Given the description of an element on the screen output the (x, y) to click on. 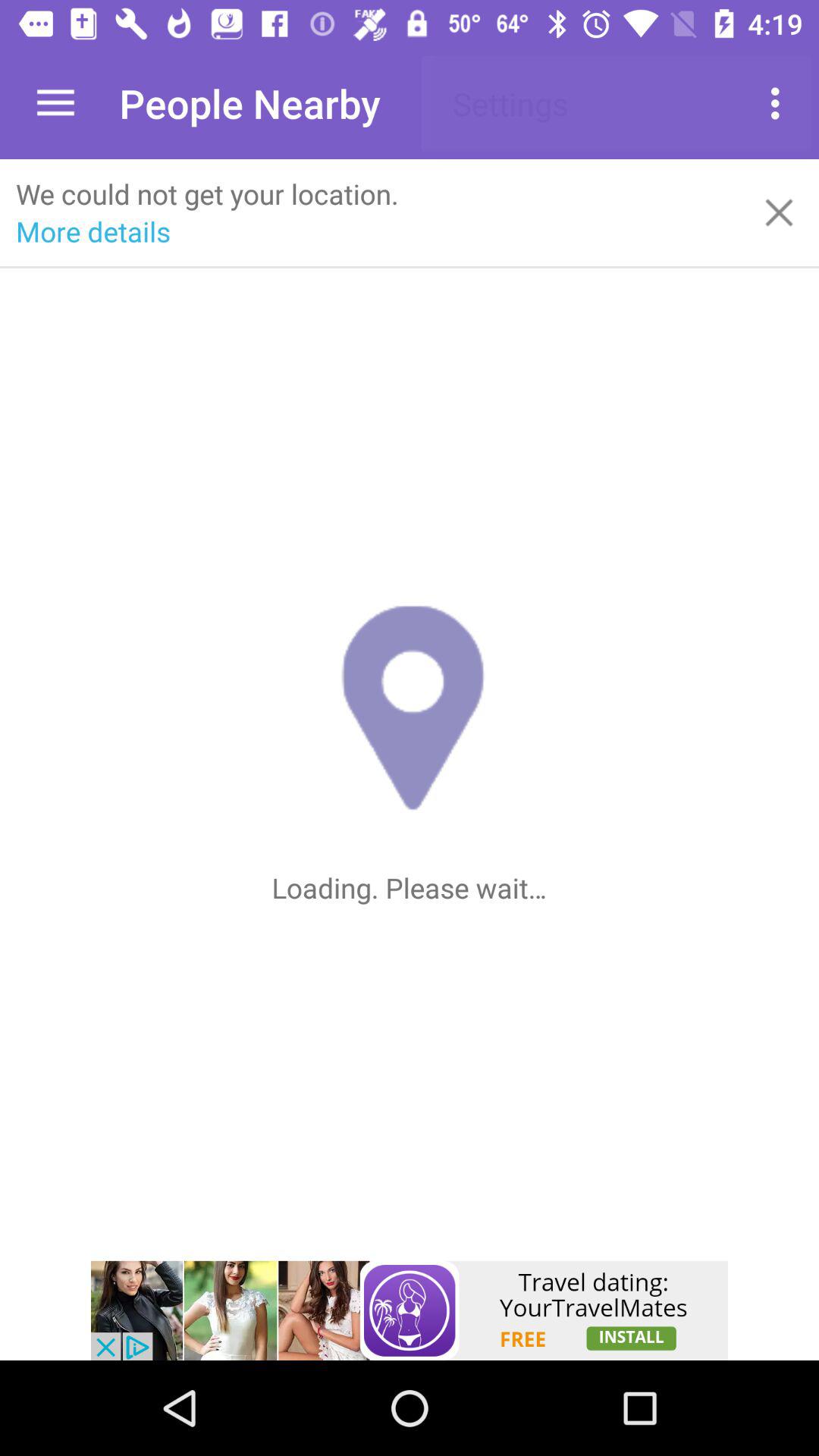
close (779, 212)
